Given the description of an element on the screen output the (x, y) to click on. 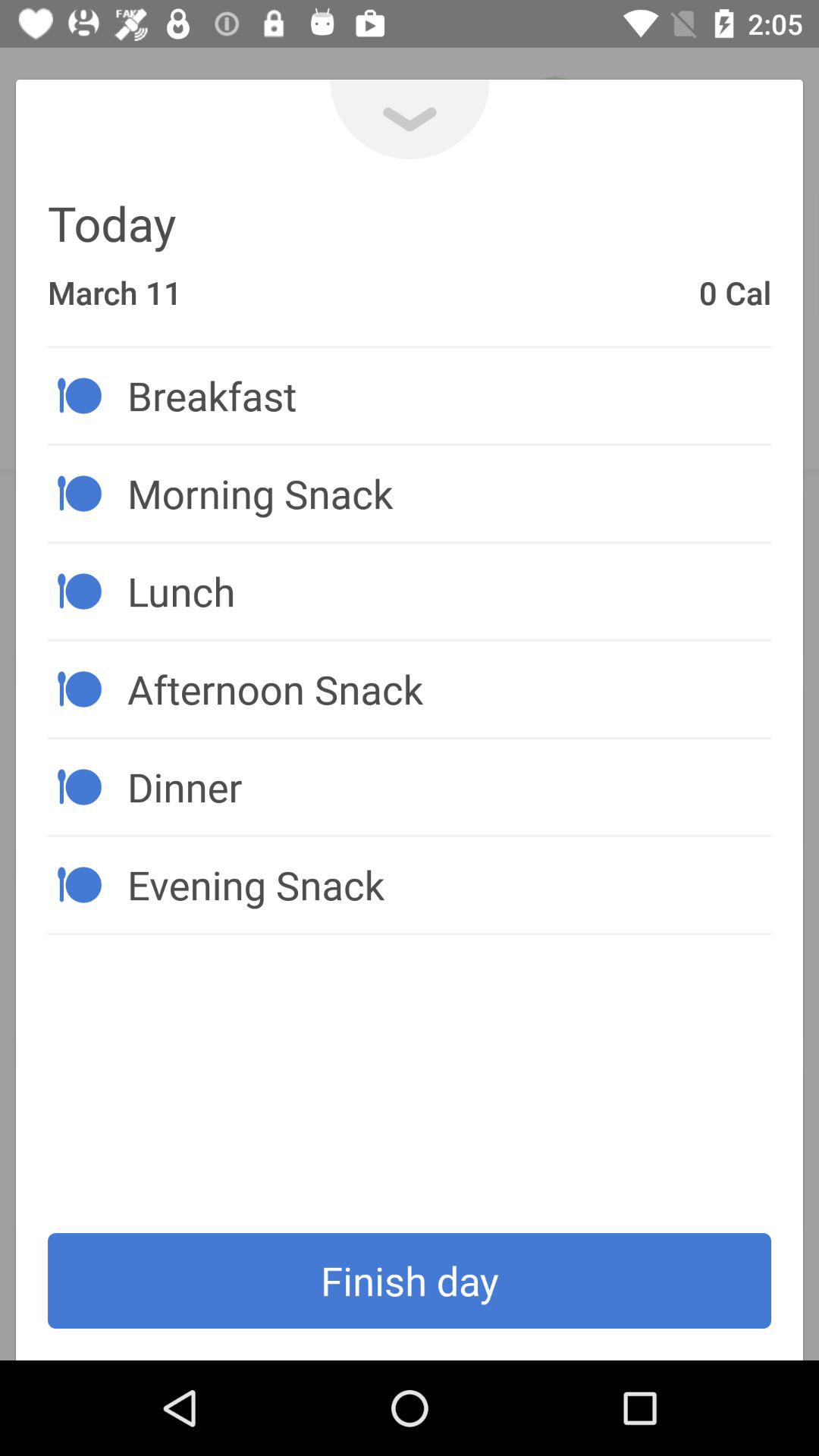
open item above the lunch icon (449, 492)
